Given the description of an element on the screen output the (x, y) to click on. 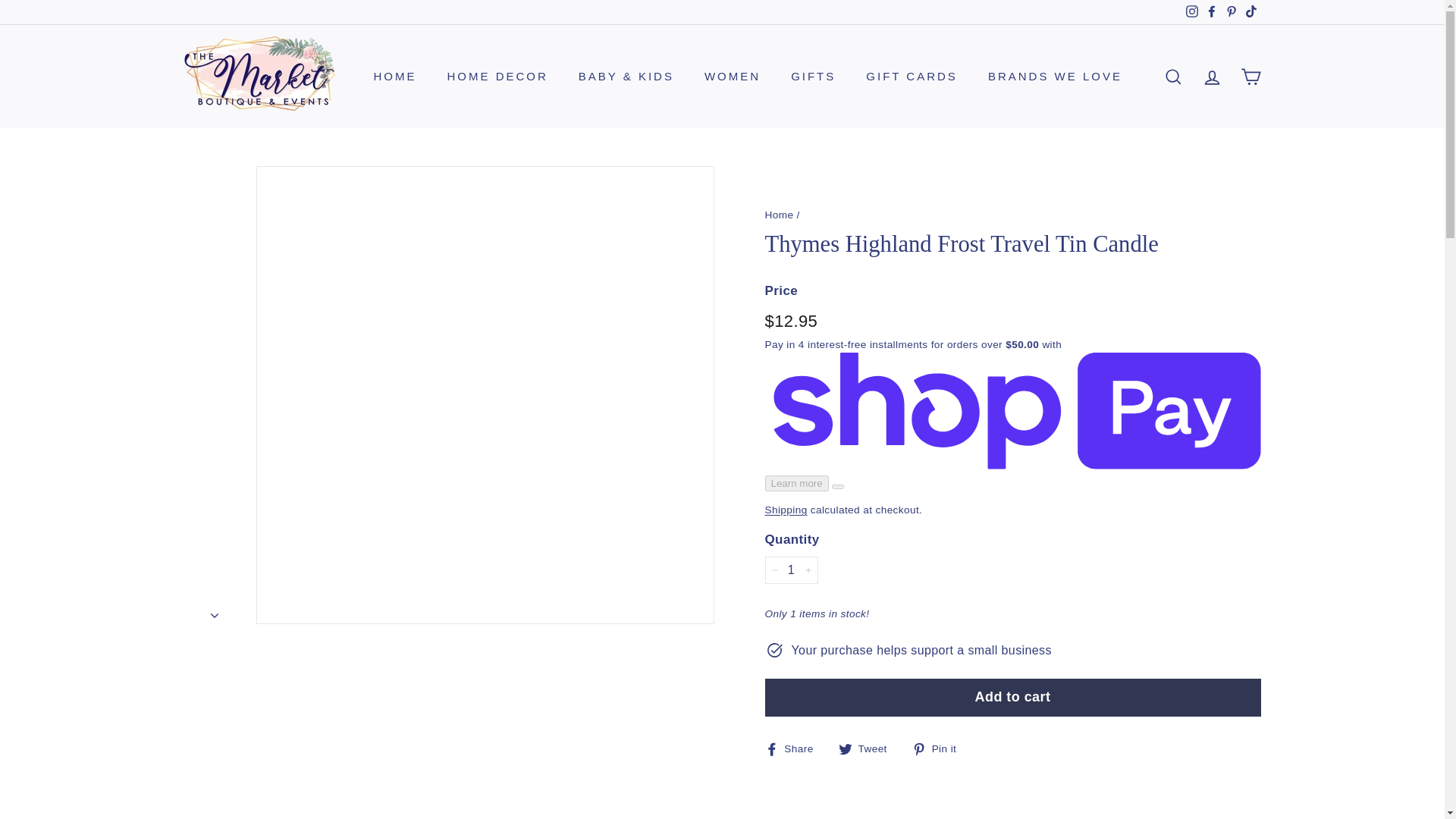
Back to the frontpage (778, 214)
Pin on Pinterest (940, 748)
Tweet on Twitter (868, 748)
Share on Facebook (794, 748)
1 (790, 569)
GIFTS (813, 76)
HOME (394, 76)
HOME DECOR (497, 76)
WOMEN (732, 76)
